Given the description of an element on the screen output the (x, y) to click on. 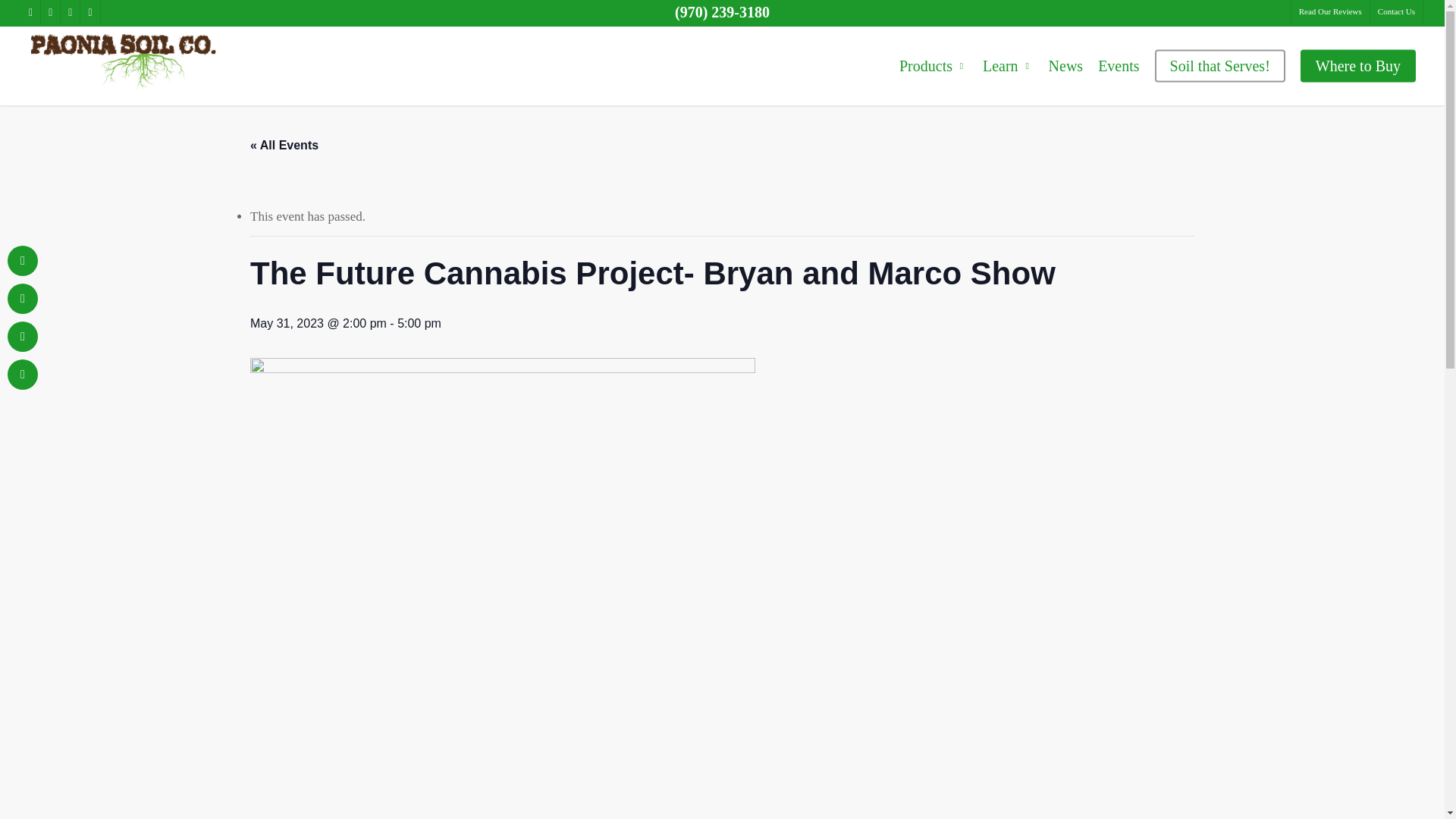
Contact Us (1396, 11)
Events (1118, 65)
Read Our Reviews (1330, 11)
Learn (1008, 65)
facebook (30, 12)
youtube (49, 12)
Soil that Serves! (1219, 65)
Where to Buy (1357, 65)
phone (89, 12)
News (1065, 65)
Products (933, 65)
instagram (69, 12)
